Given the description of an element on the screen output the (x, y) to click on. 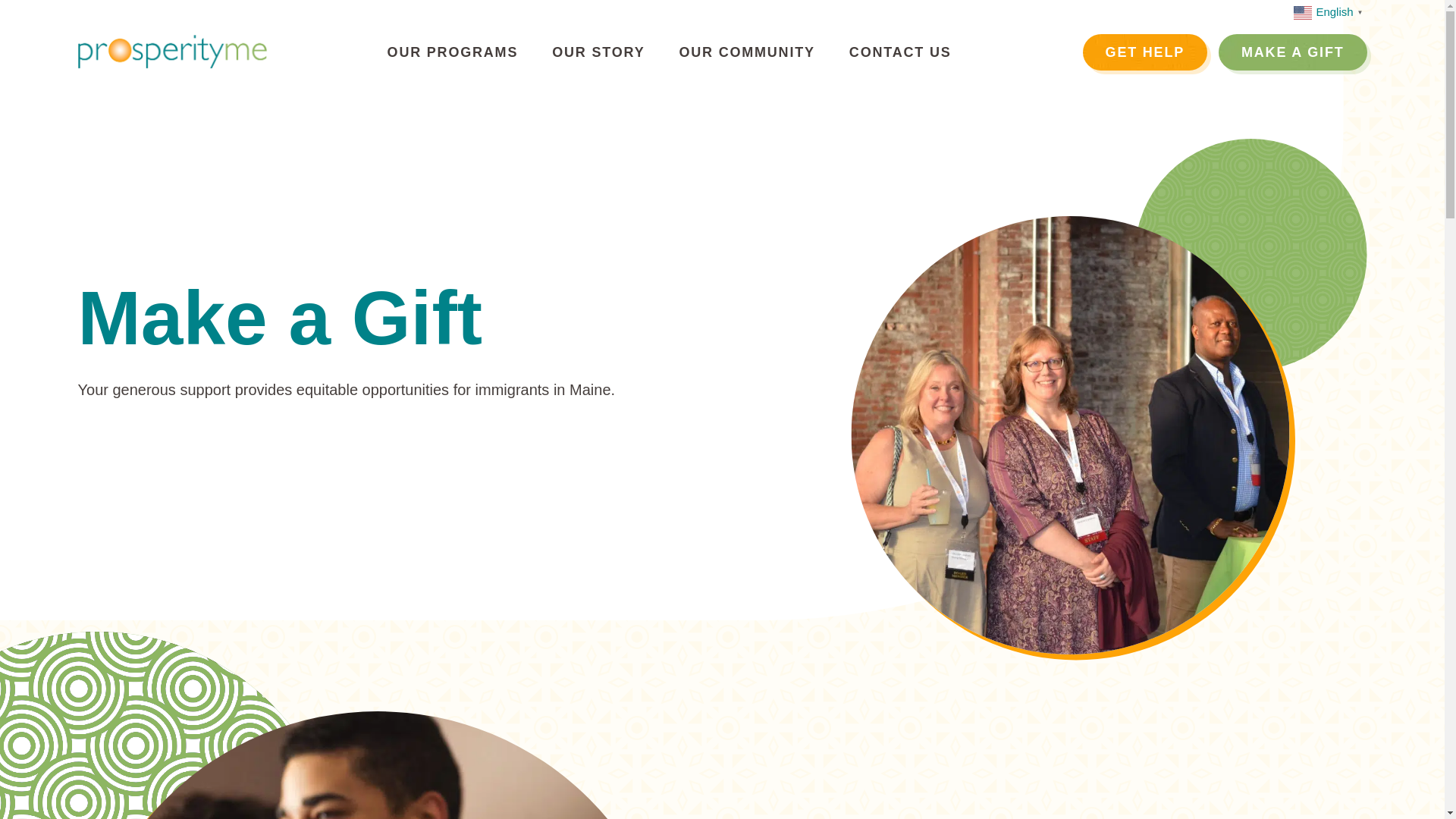
MAKE A GIFT (1292, 52)
GET HELP (1145, 52)
CONTACT US (900, 52)
